Given the description of an element on the screen output the (x, y) to click on. 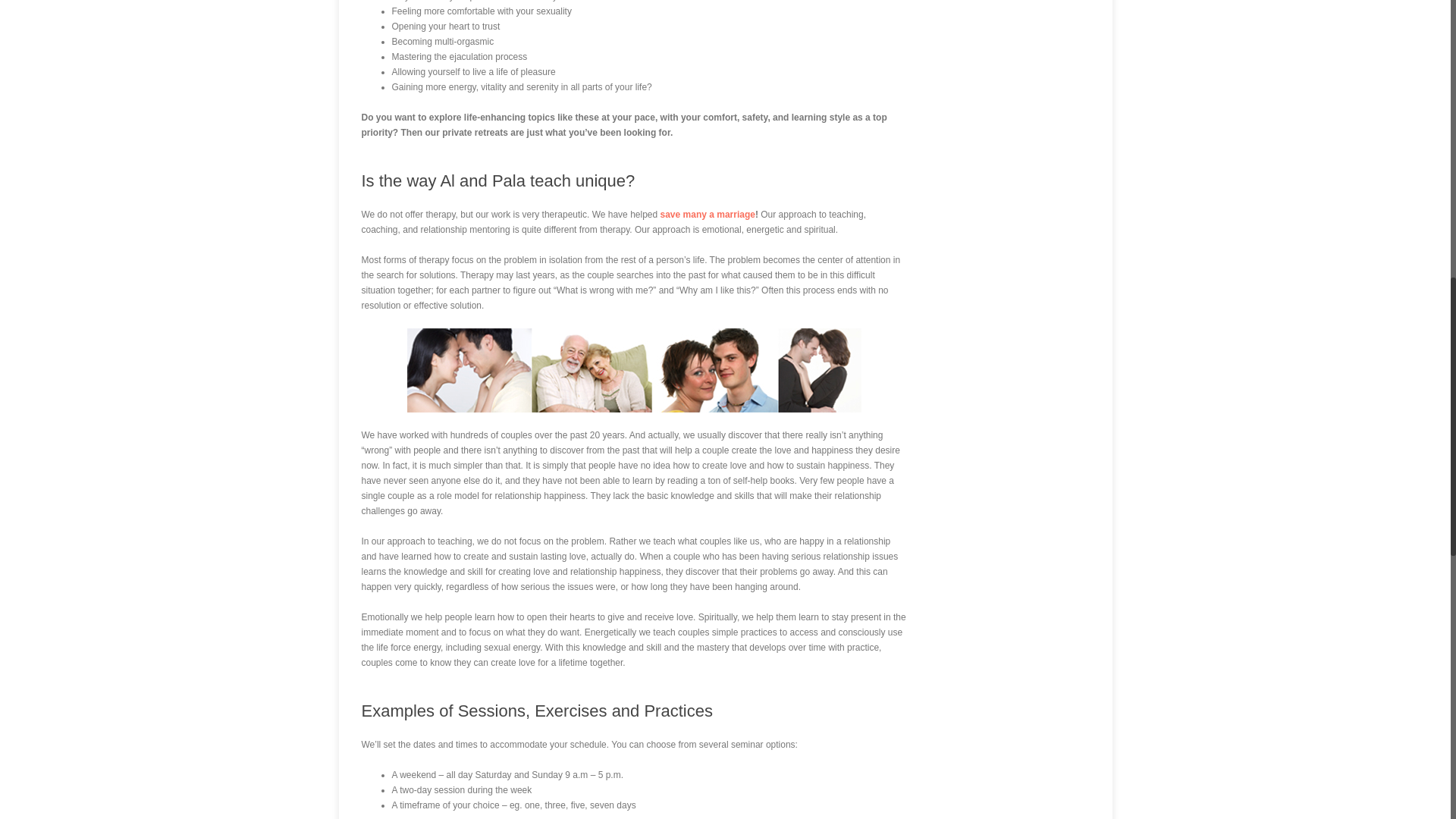
save many a marriage (708, 214)
